Given the description of an element on the screen output the (x, y) to click on. 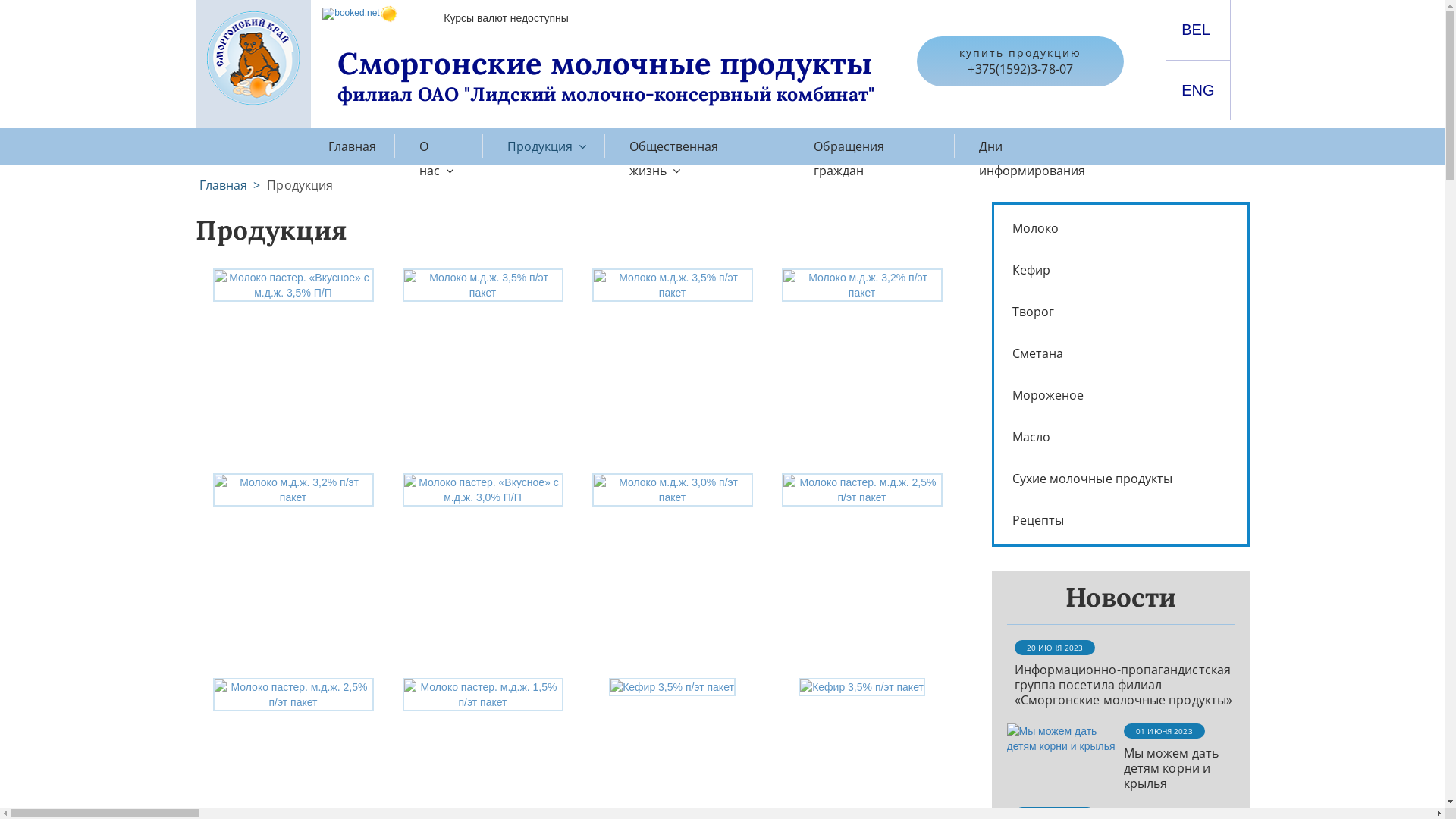
+375(1592)3-78-07 Element type: text (1019, 68)
BEL Element type: text (1195, 29)
ENG Element type: text (1197, 89)
